Given the description of an element on the screen output the (x, y) to click on. 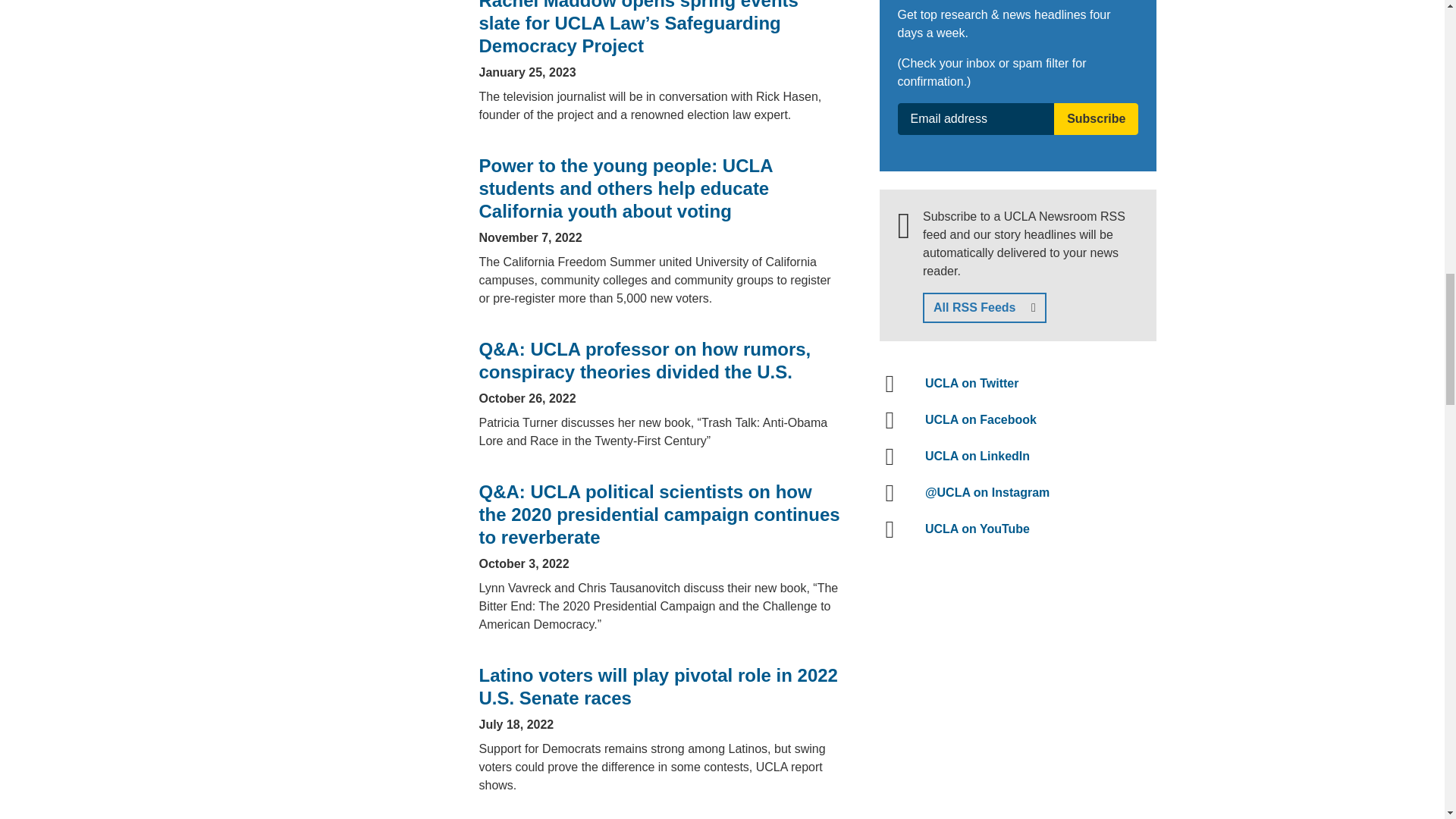
Subscribe (1096, 119)
